Given the description of an element on the screen output the (x, y) to click on. 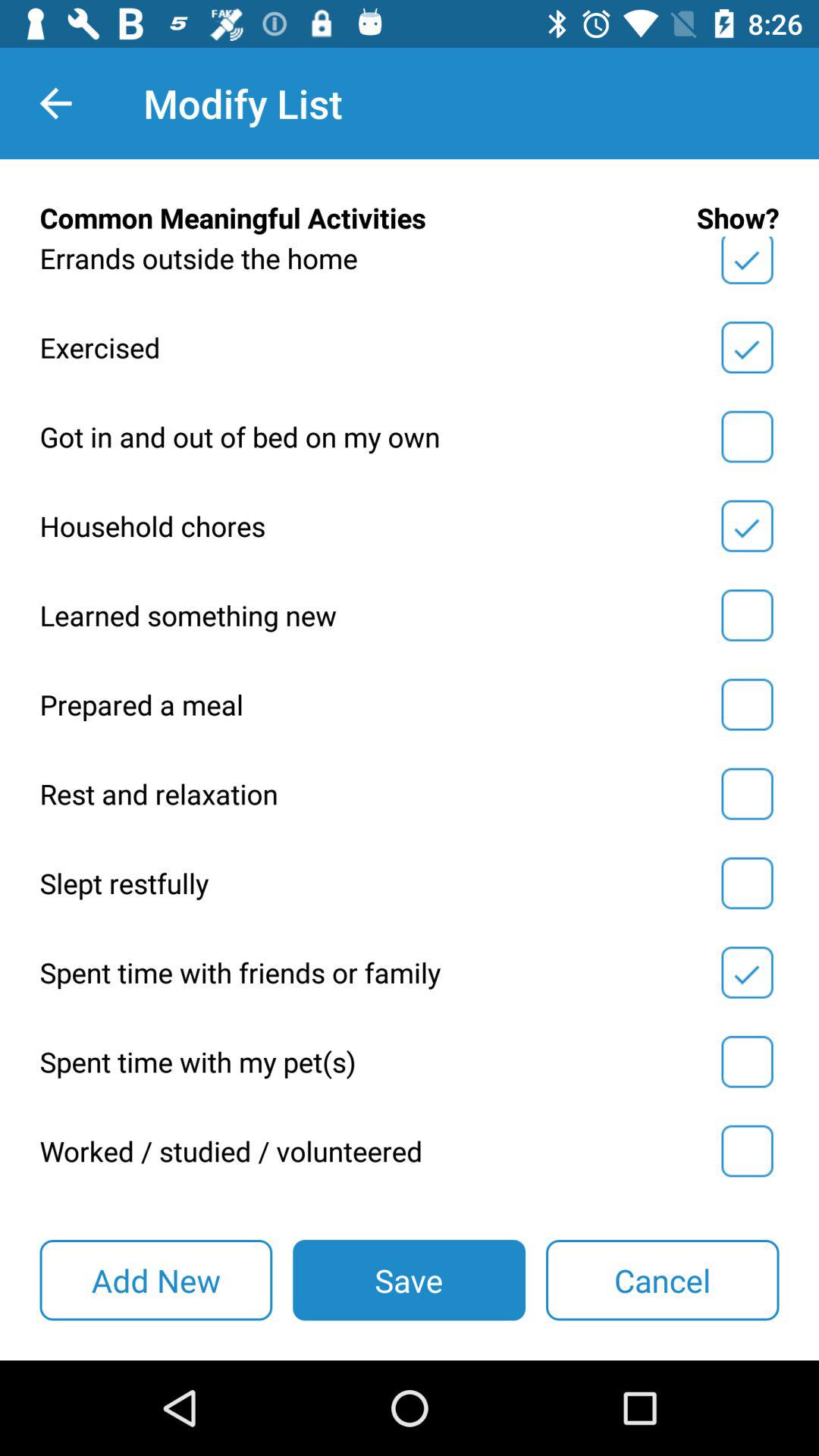
scroll until the save (408, 1279)
